Given the description of an element on the screen output the (x, y) to click on. 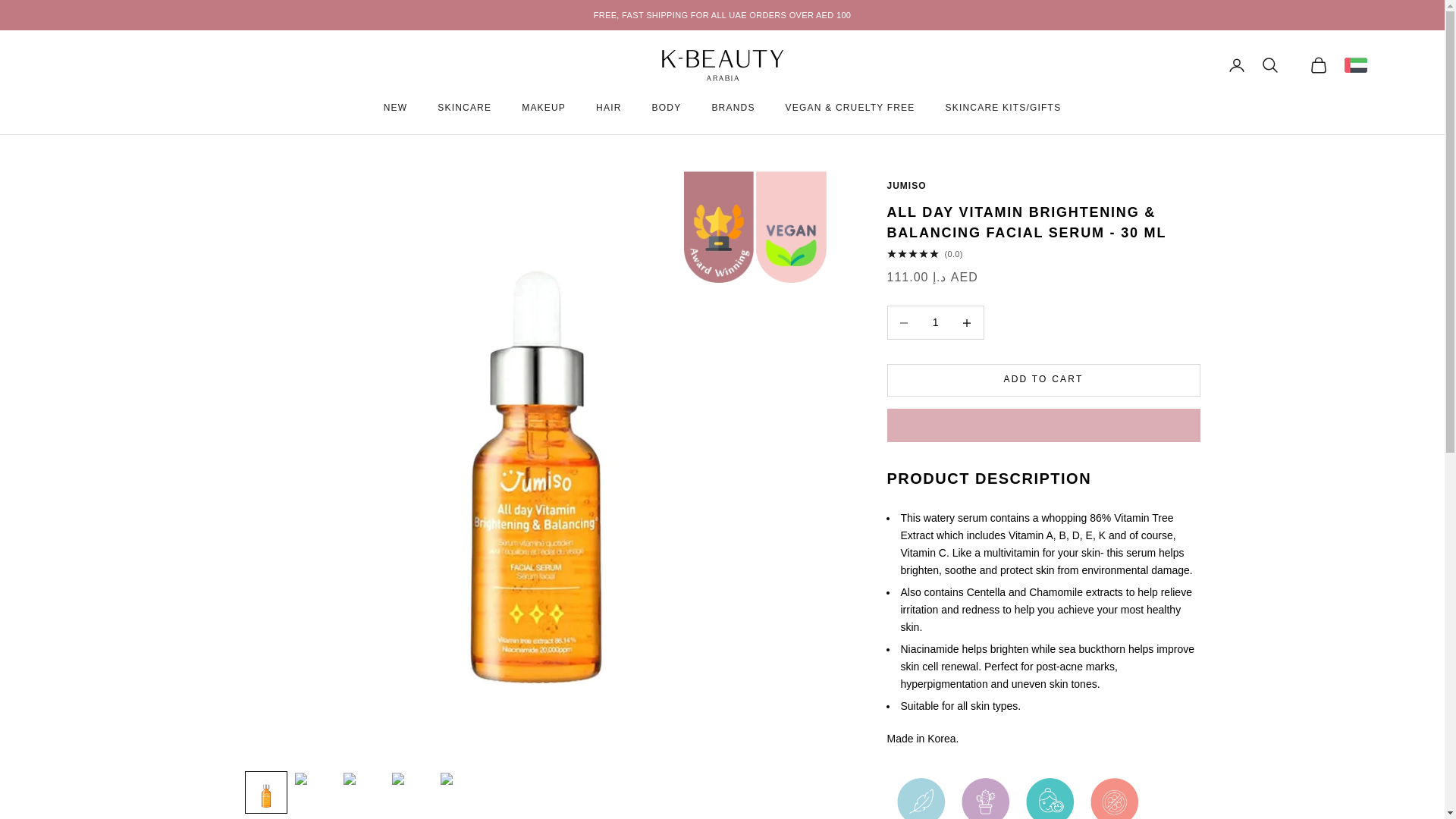
BODY (666, 107)
NEW (395, 107)
MAKEUP (543, 107)
HAIR (608, 107)
FREE, FAST SHIPPING FOR ALL UAE ORDERS OVER AED 100 (722, 14)
No reviews (1042, 253)
K-Beauty Arabia (722, 65)
All products (722, 14)
1 (935, 322)
